Given the description of an element on the screen output the (x, y) to click on. 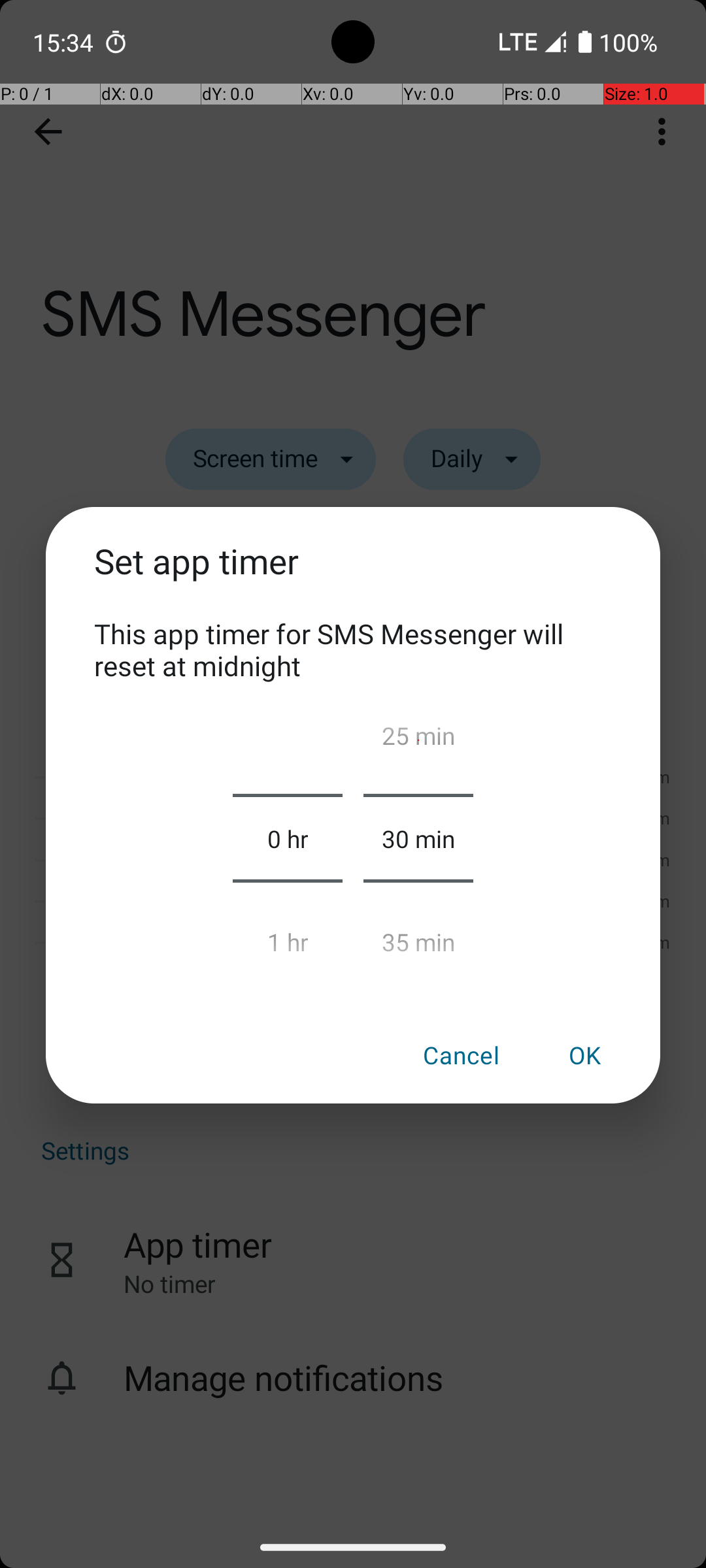
Set app timer Element type: android.widget.TextView (352, 575)
This app timer for SMS Messenger will reset at midnight Element type: android.widget.TextView (352, 649)
0 hr Element type: android.widget.EditText (287, 838)
1 hr Element type: android.widget.Button (287, 936)
25 min Element type: android.widget.Button (418, 740)
30 min Element type: android.widget.EditText (418, 838)
35 min Element type: android.widget.Button (418, 936)
